Given the description of an element on the screen output the (x, y) to click on. 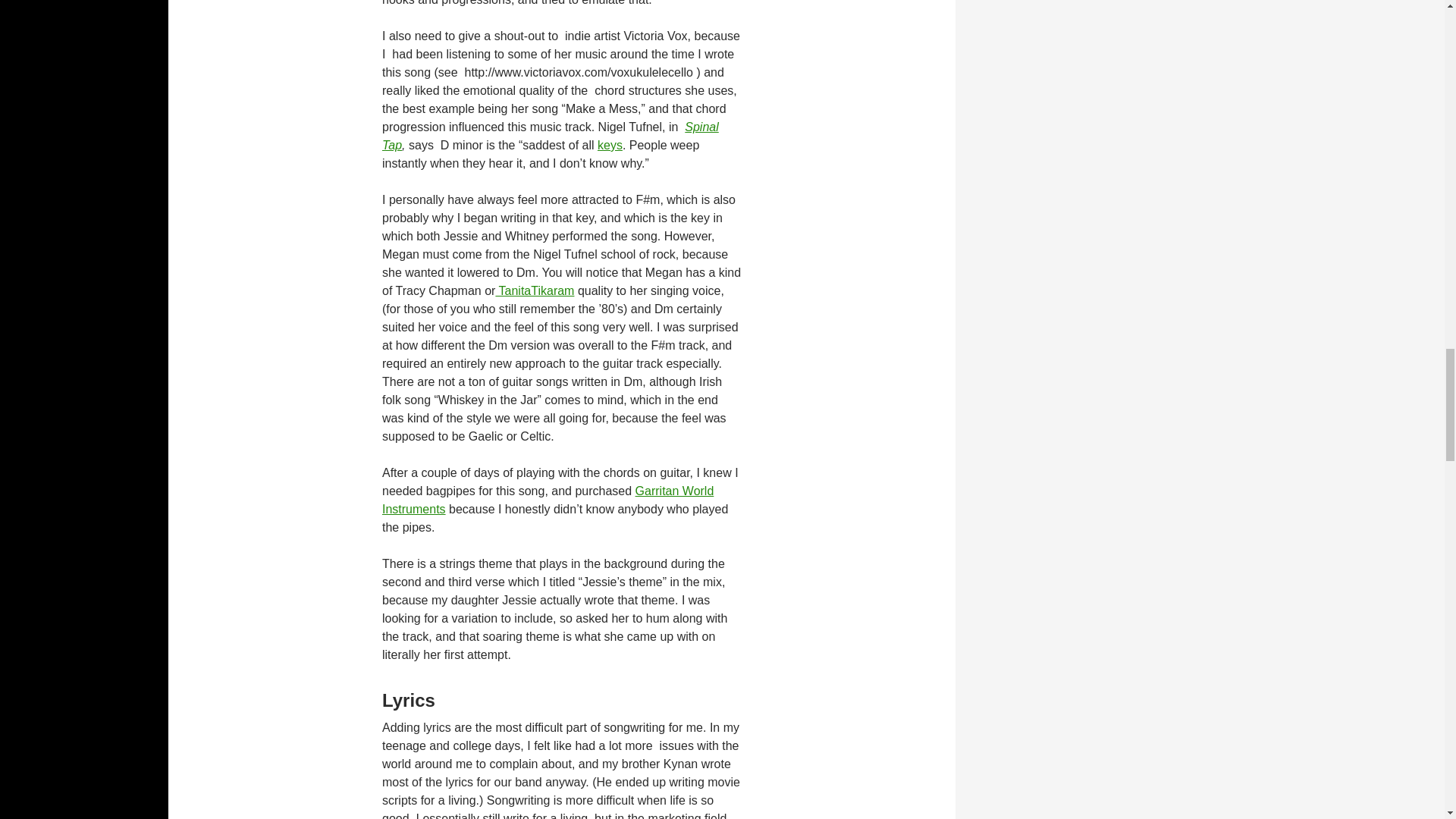
TanitaTikaram (534, 290)
Garritan World Instruments (547, 499)
keys (609, 144)
Spinal Tap (550, 135)
